Given the description of an element on the screen output the (x, y) to click on. 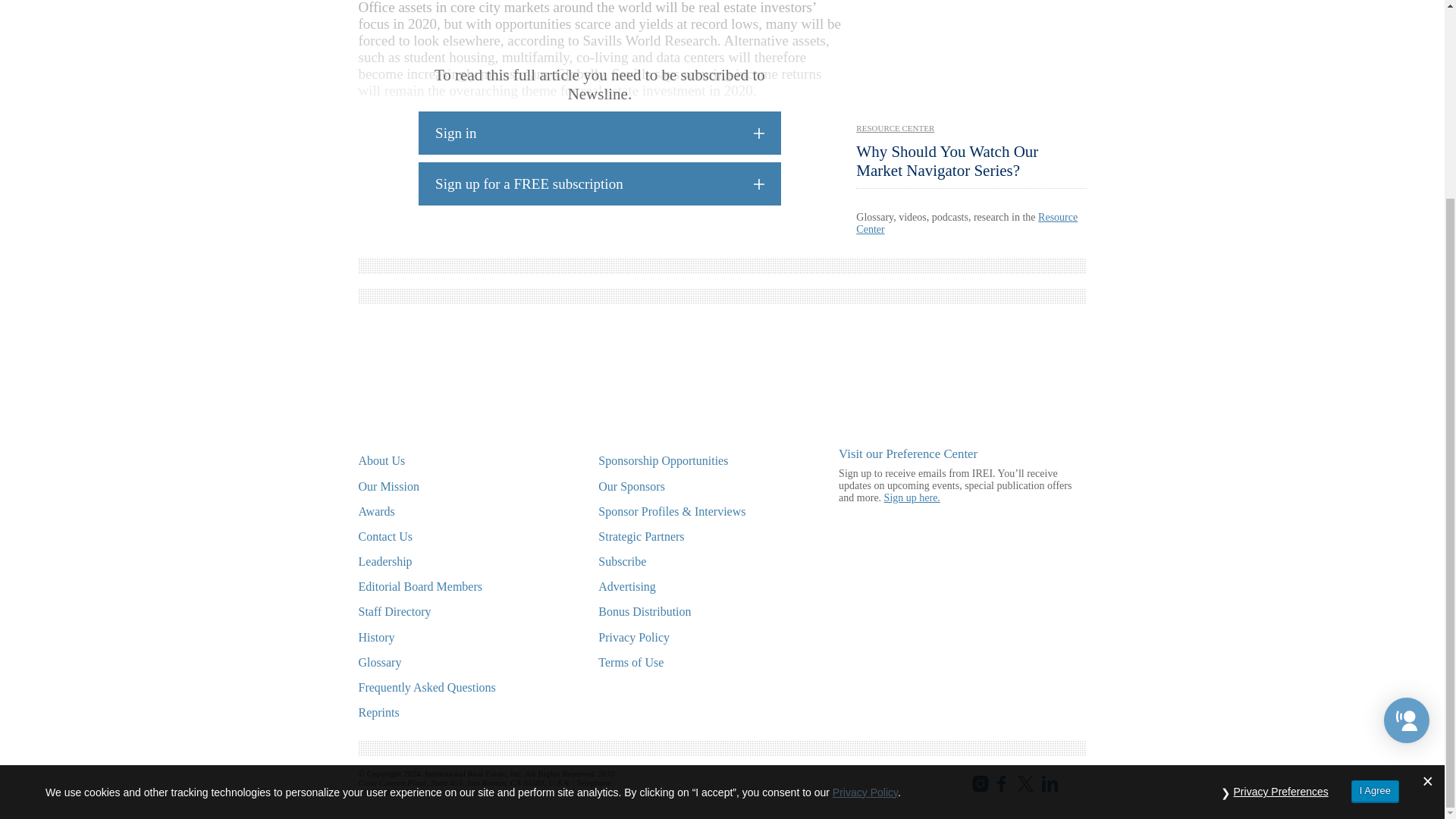
Privacy Policy (865, 539)
